Given the description of an element on the screen output the (x, y) to click on. 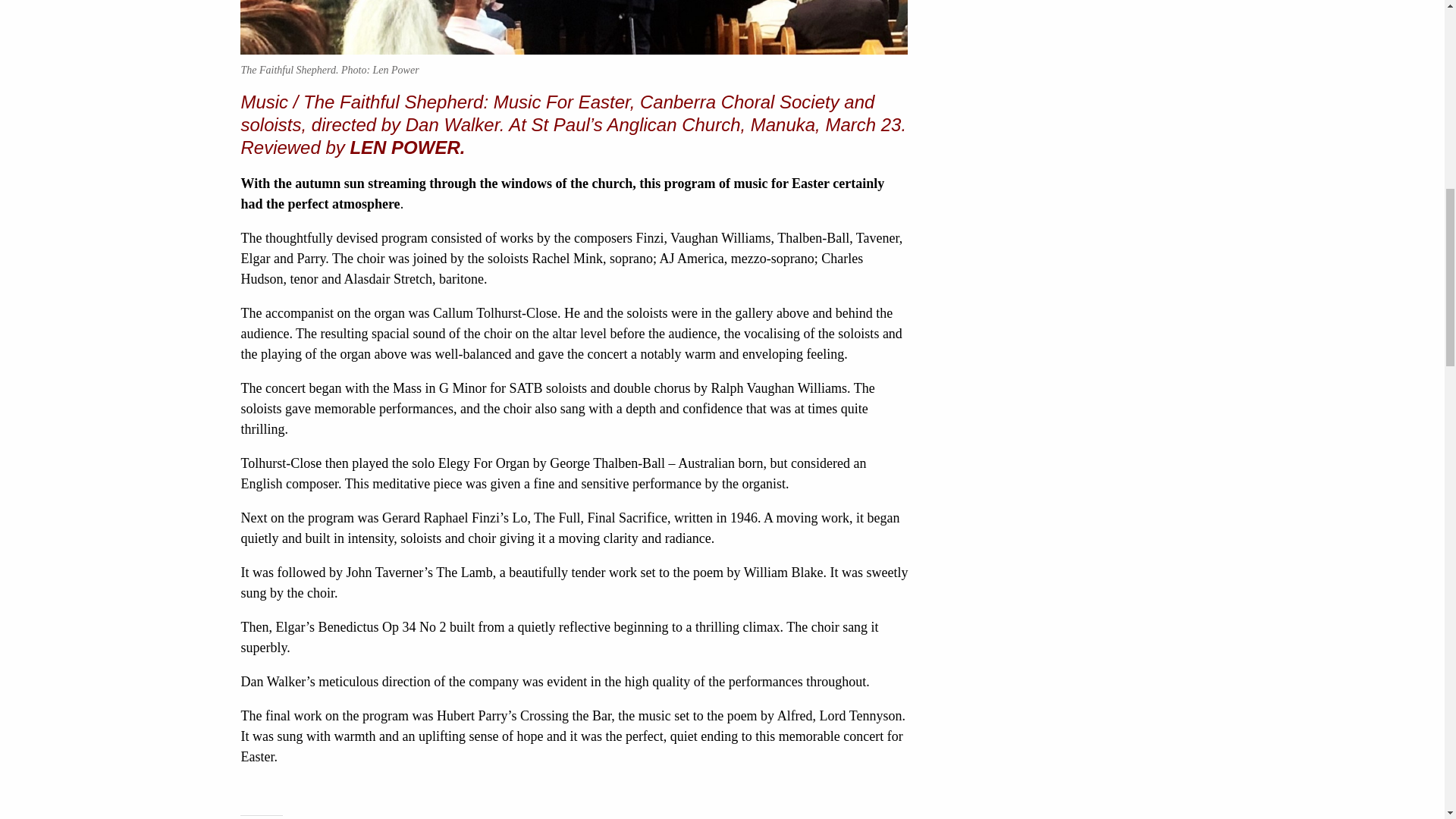
3rd party ad content (1066, 27)
